Given the description of an element on the screen output the (x, y) to click on. 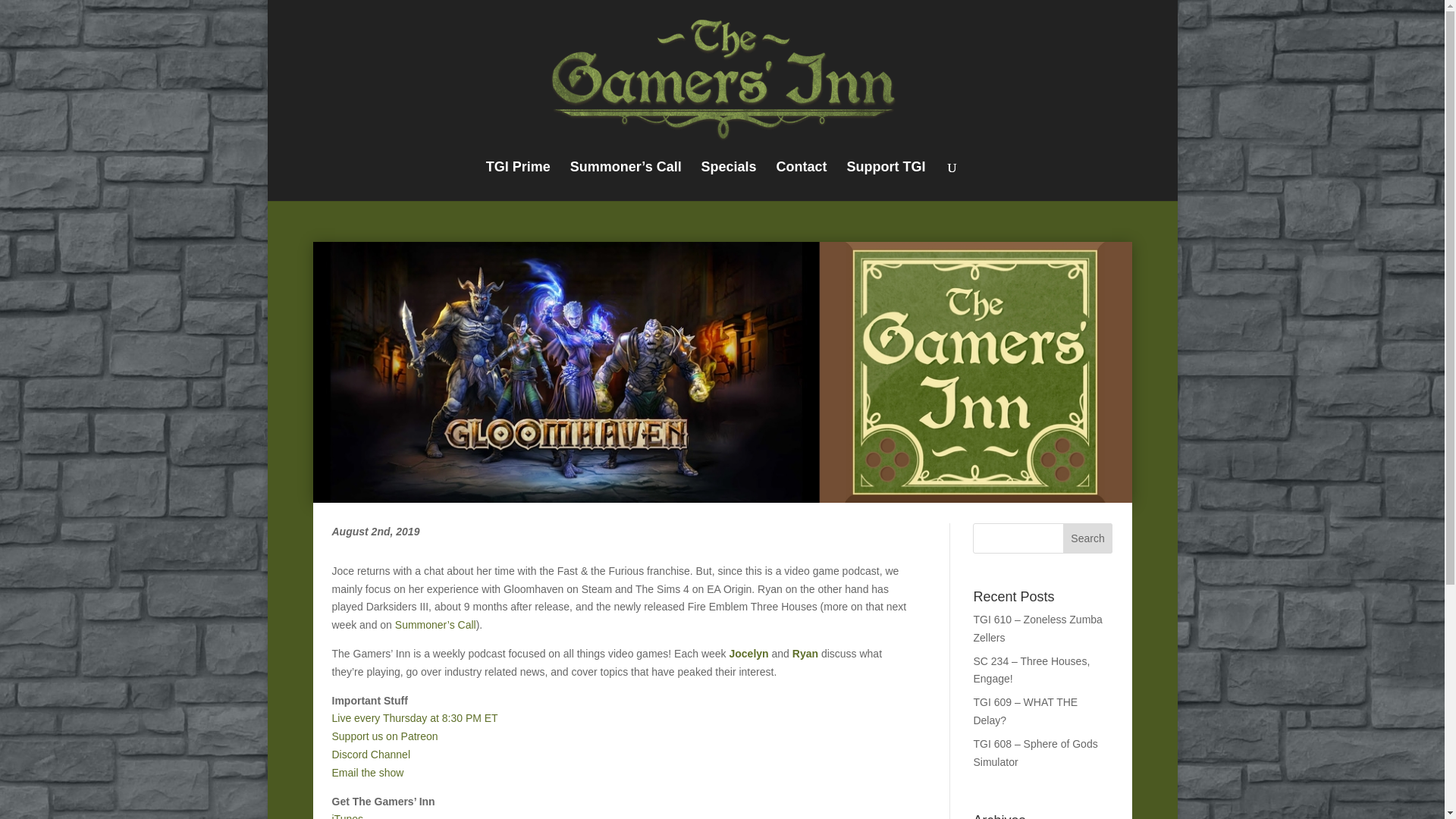
Specials (729, 180)
TGI Prime (518, 180)
Support TGI (884, 180)
Search (1087, 538)
Email the show (367, 772)
Support us on Patreon (384, 736)
Live every Thursday at 8:30 PM ET (414, 717)
Ryan (805, 653)
Discord Channel (370, 754)
Contact (801, 180)
Jocelyn (748, 653)
Search (1087, 538)
iTunes (347, 816)
